Given the description of an element on the screen output the (x, y) to click on. 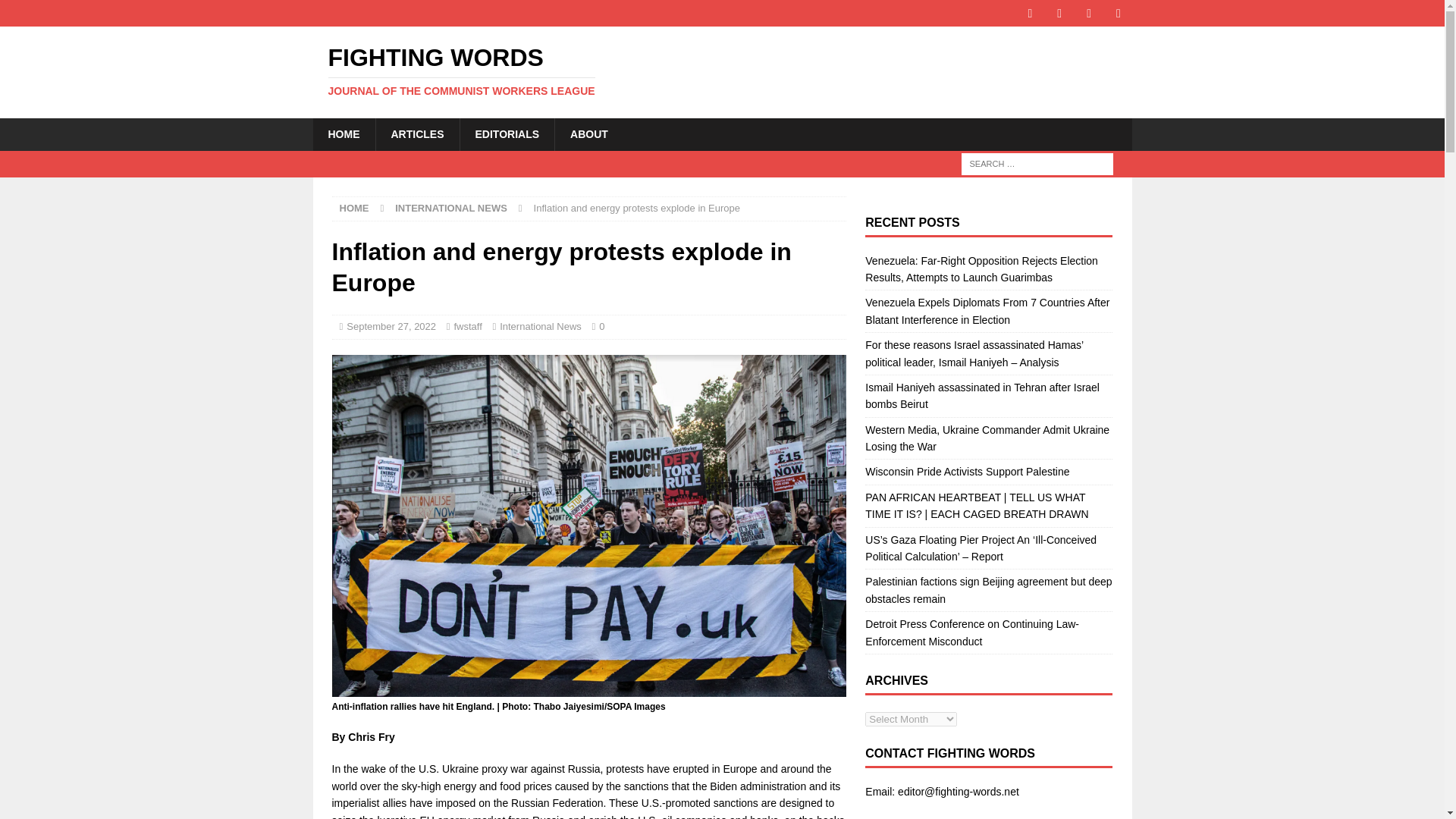
September 27, 2022 (721, 71)
fwstaff (390, 326)
EDITORIALS (466, 326)
Search (507, 133)
HOME (56, 11)
ARTICLES (343, 133)
Fighting Words (416, 133)
INTERNATIONAL NEWS (721, 71)
ABOUT (450, 207)
